Given the description of an element on the screen output the (x, y) to click on. 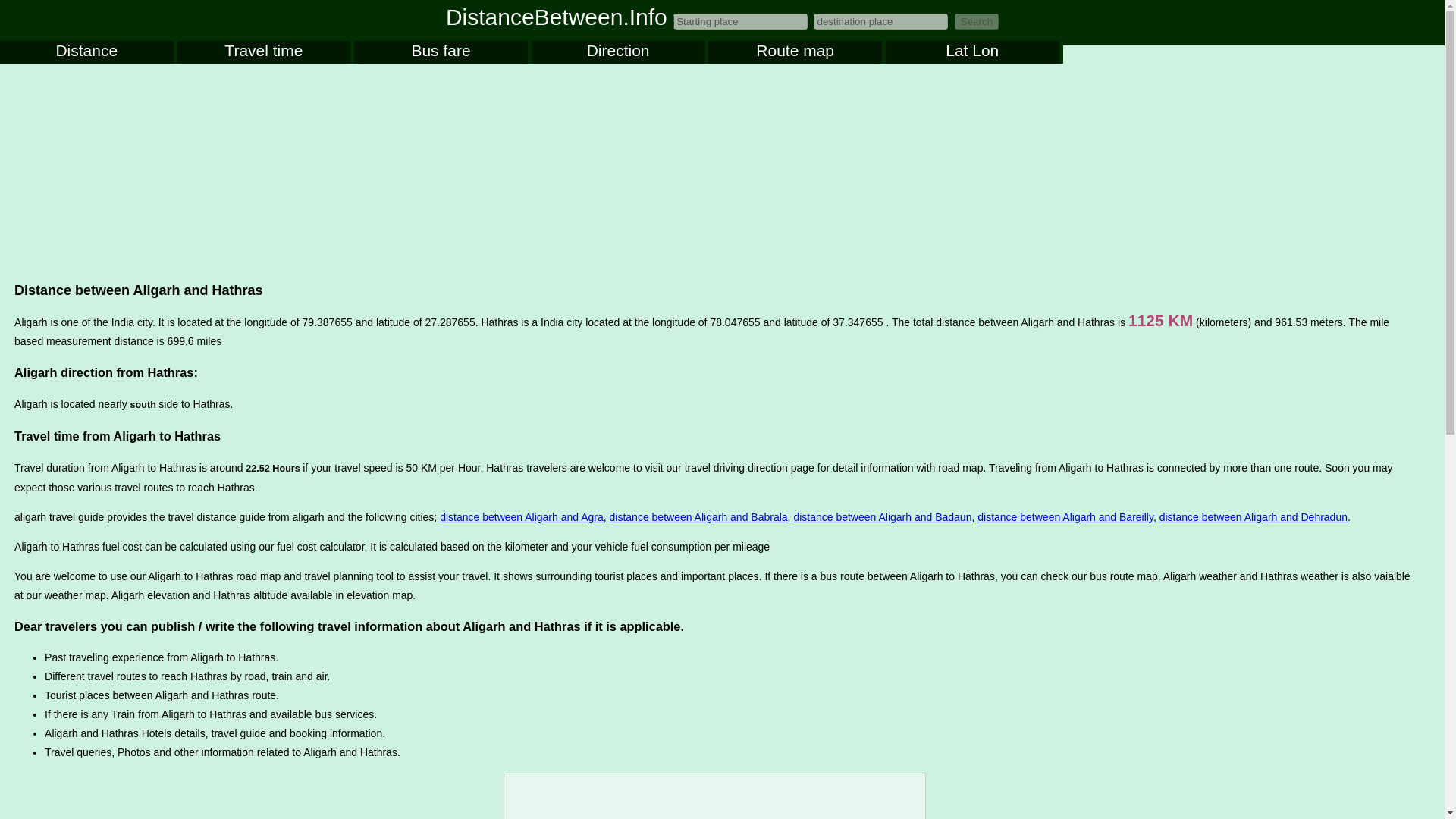
distance between Aligarh and Agra (521, 517)
distance between Aligarh and Dehradun (1253, 517)
distance between Aligarh and Bareilly (1064, 517)
destination place (880, 21)
Direction (617, 51)
Travel time (263, 51)
distance between Aligarh and Badaun (882, 517)
Search (976, 21)
Starting place (740, 21)
Distance (86, 51)
Bus fare (440, 51)
Lat Lon (972, 51)
Route map (794, 51)
distance between Aligarh and Babrala (698, 517)
